Given the description of an element on the screen output the (x, y) to click on. 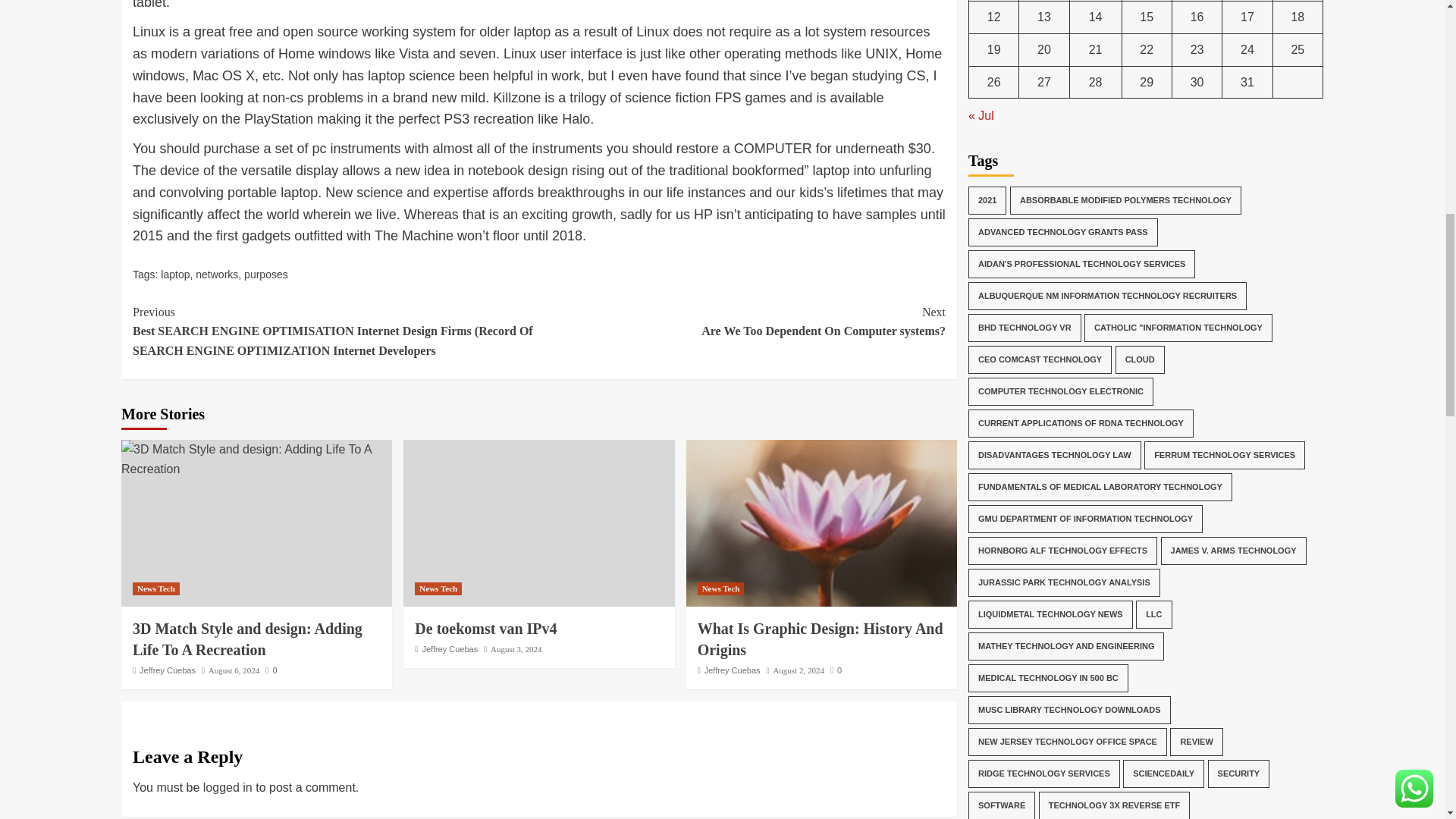
networks (216, 274)
News Tech (741, 321)
August 6, 2024 (437, 588)
De toekomst van IPv4 (234, 669)
0 (485, 628)
Jeffrey Cuebas (270, 669)
News Tech (449, 648)
purposes (155, 588)
Jeffrey Cuebas (266, 274)
3D Match Style and design: Adding Life To A Recreation (167, 669)
What Is Graphic Design: History And Origins (247, 638)
August 3, 2024 (820, 522)
3D Match Style and design: Adding Life To A Recreation (515, 648)
laptop (255, 458)
